Given the description of an element on the screen output the (x, y) to click on. 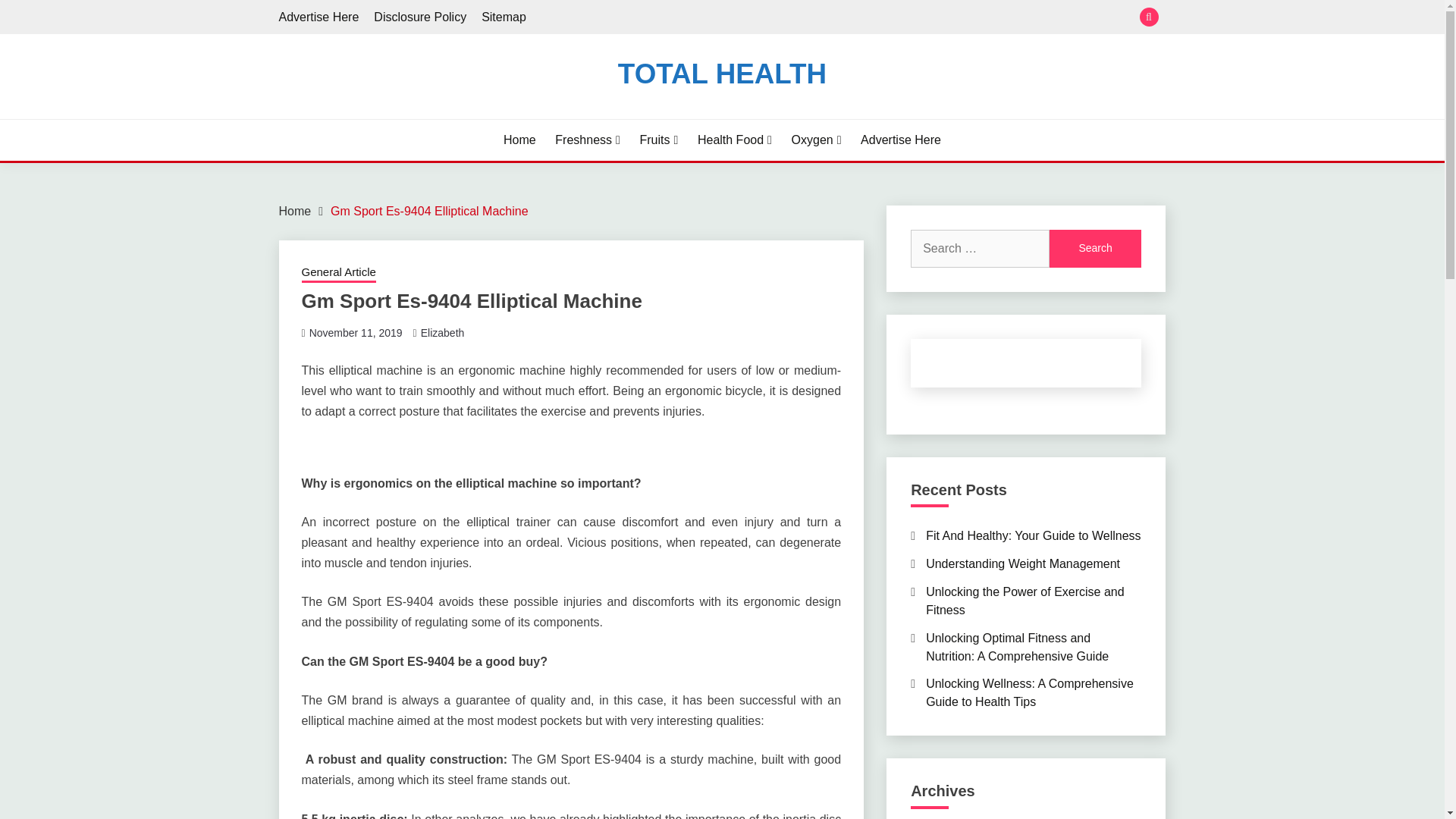
Disclosure Policy (419, 16)
Search (1095, 248)
Advertise Here (900, 140)
Search (832, 18)
Search (1095, 248)
Fruits (658, 140)
Freshness (587, 140)
Home (295, 210)
Health Food (734, 140)
Home (519, 140)
TOTAL HEALTH (722, 73)
Advertise Here (319, 16)
Oxygen (816, 140)
Sitemap (503, 16)
